Given the description of an element on the screen output the (x, y) to click on. 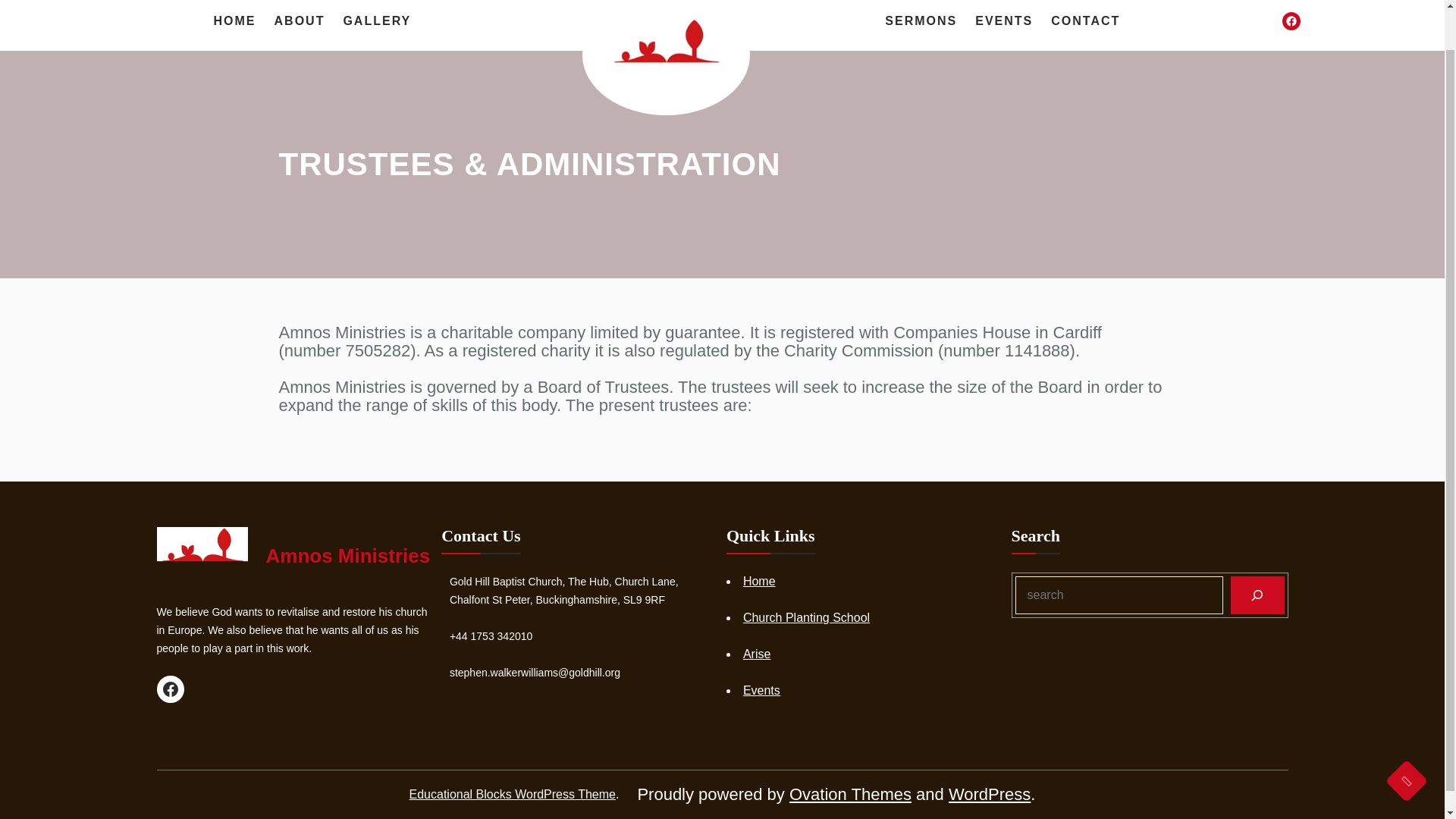
HOME (235, 21)
Facebook (169, 688)
CONTACT (1085, 21)
ABOUT (299, 21)
WordPress (989, 793)
Events (761, 689)
Facebook (1290, 21)
Church Planting School (805, 617)
Ovation Themes (850, 793)
GALLERY (376, 21)
